Given the description of an element on the screen output the (x, y) to click on. 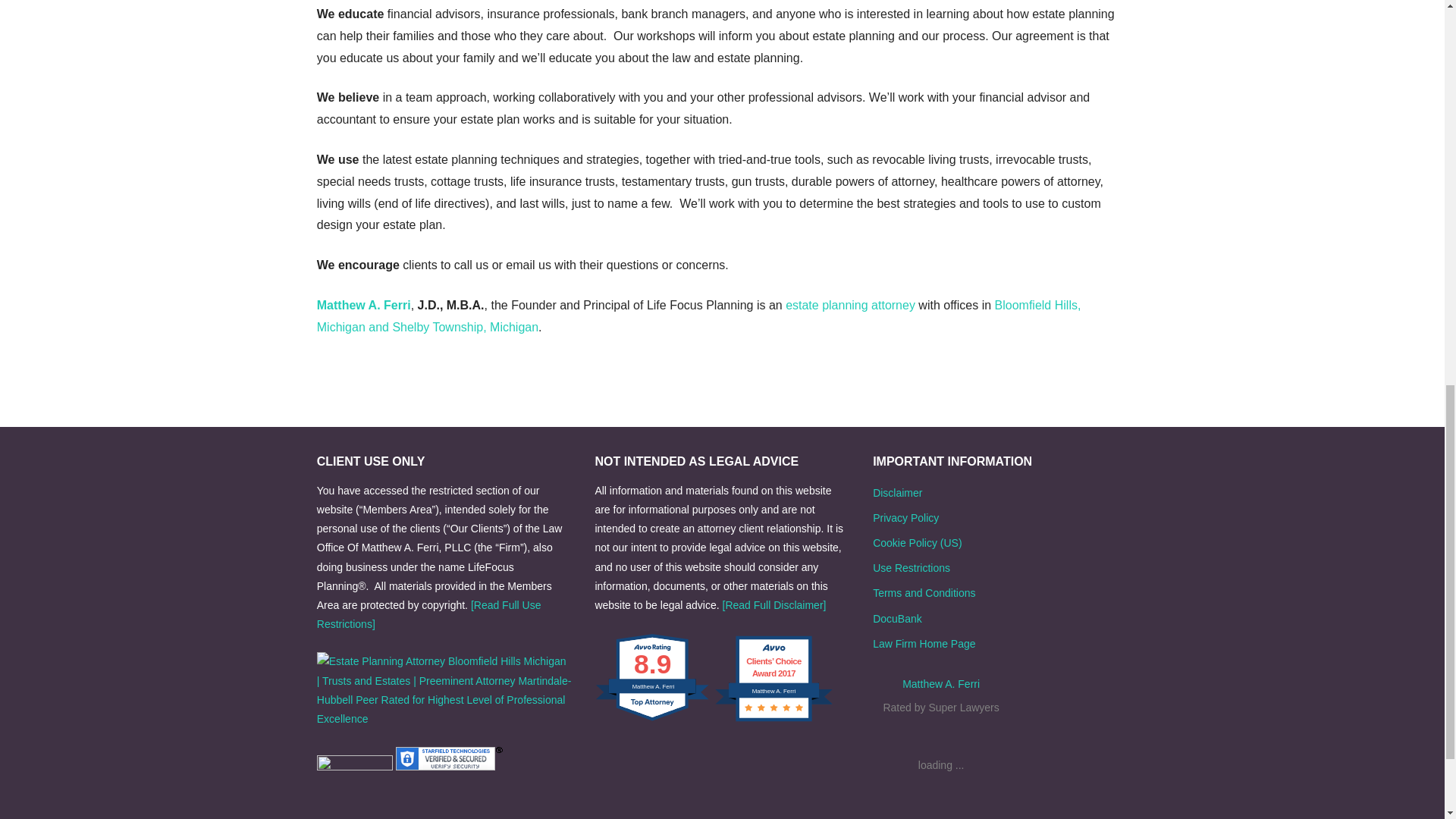
Privacy Policy (905, 517)
DocuBank (896, 618)
Law Firm Home Page (923, 644)
Use Restrictions (911, 567)
Bloomfield Hills, Michigan and Shelby Township, Michigan (699, 315)
Matthew A. Ferri (940, 684)
Disclaimer (896, 492)
Terms and Conditions (923, 592)
Matthew A. Ferri (363, 305)
estate planning attorney (850, 305)
